Given the description of an element on the screen output the (x, y) to click on. 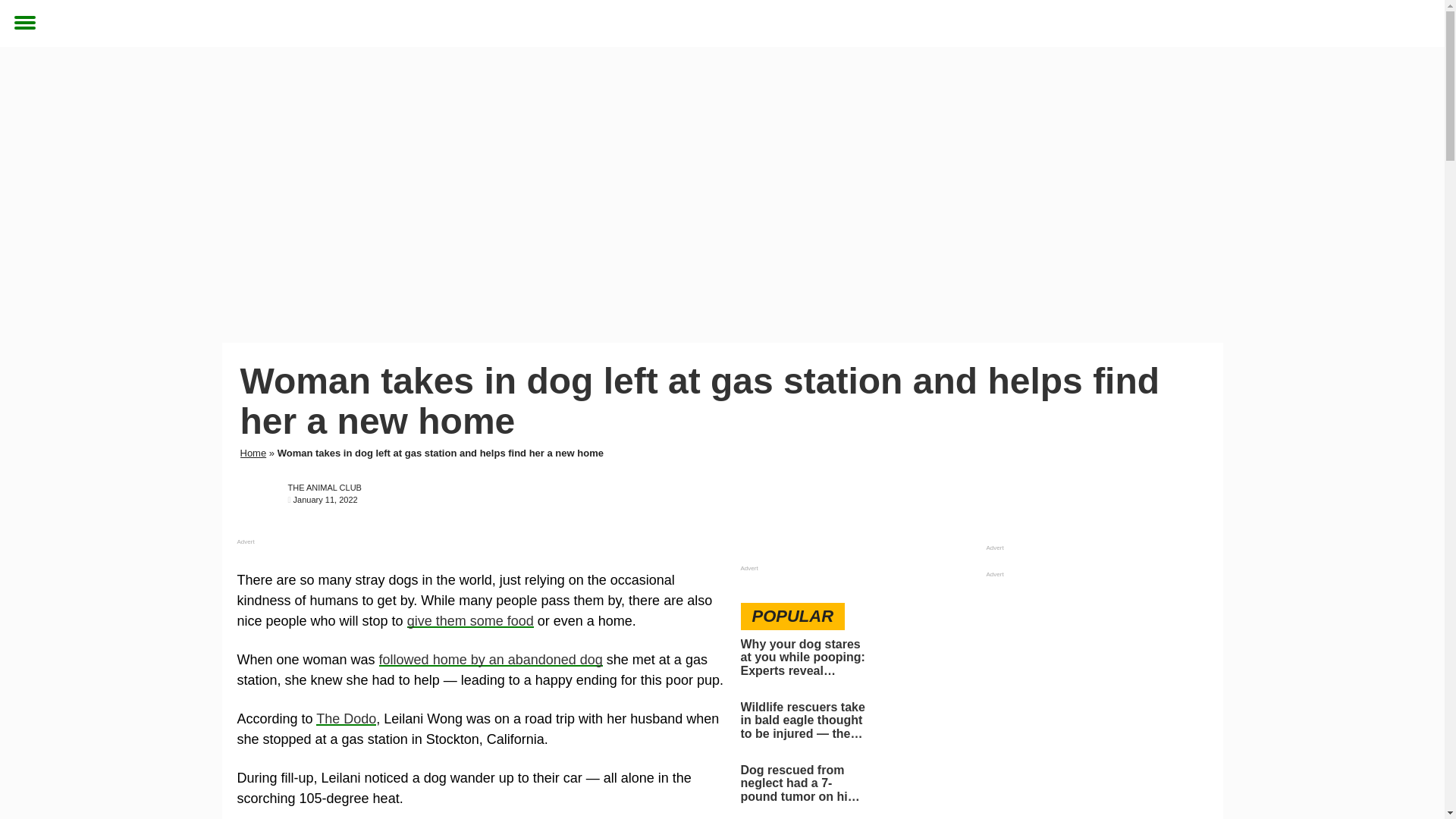
give them some food (470, 620)
followed home by an abandoned dog (490, 659)
Home (253, 452)
We Love Animals (716, 24)
Toggle menu (30, 23)
The Dodo (345, 718)
